Given the description of an element on the screen output the (x, y) to click on. 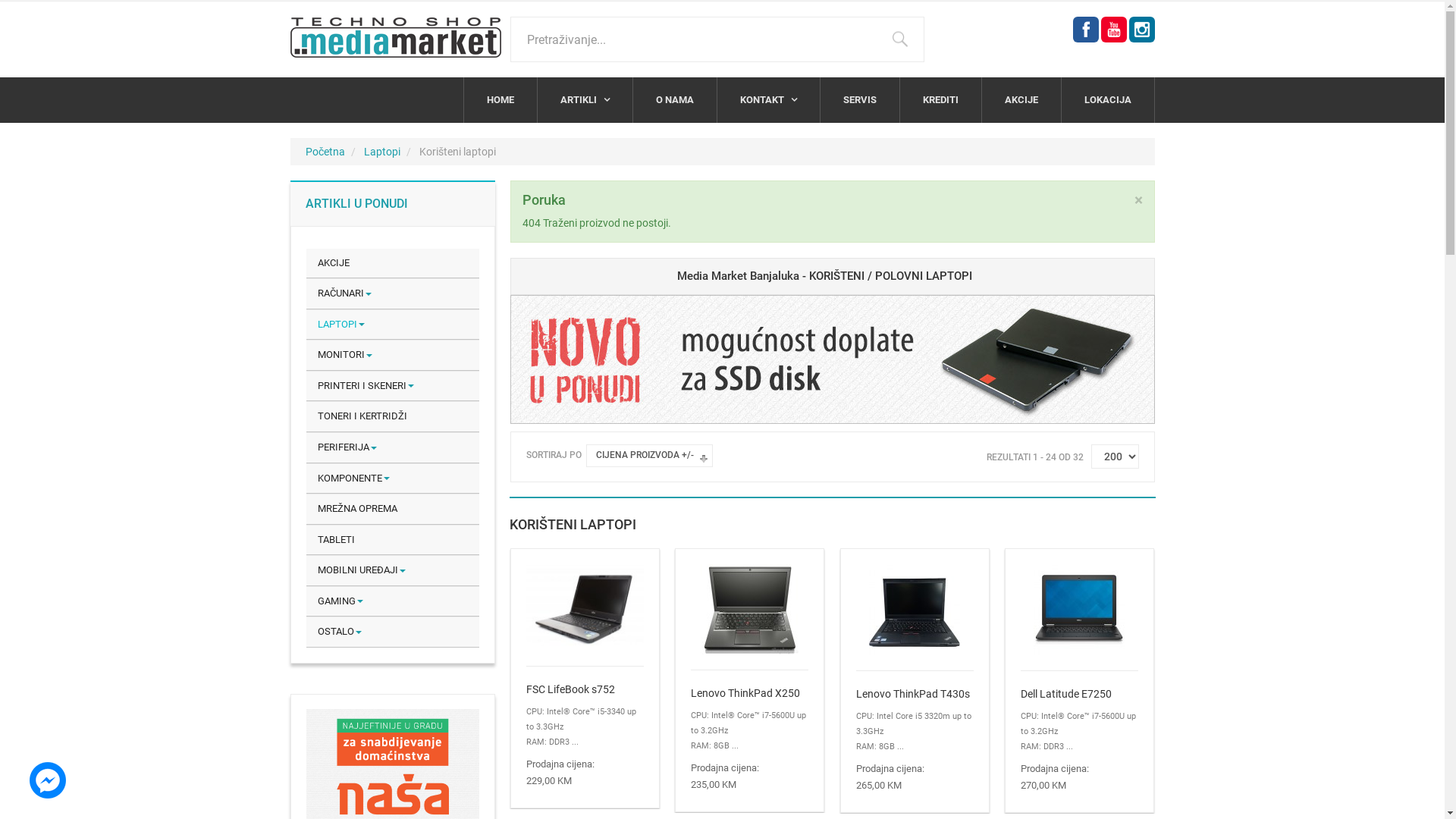
Facebook Element type: hover (1085, 29)
Dell Latitude E7250 Element type: hover (1078, 608)
Media Market Element type: hover (394, 37)
FSC LifeBook s752 Element type: text (585, 688)
O NAMA Element type: text (673, 99)
Dell Latitude E7250 Element type: text (1079, 693)
KONTAKT Element type: text (768, 99)
LAPTOPI Element type: text (392, 324)
Youtube Element type: hover (1113, 29)
PERIFERIJA Element type: text (392, 447)
Lenovo ThinkPad T430s Element type: hover (914, 608)
AKCIJE Element type: text (392, 263)
MONITORI Element type: text (392, 355)
LOKACIJA Element type: text (1107, 99)
PRINTERI I SKENERI Element type: text (392, 386)
ARTIKLI Element type: text (583, 99)
FSC LifeBook s752 Element type: hover (585, 606)
GAMING Element type: text (392, 601)
SERVIS Element type: text (859, 99)
Lenovo ThinkPad X250 Element type: hover (749, 608)
Instagram Element type: hover (1141, 29)
ARTIKLI U PONUDI Element type: text (355, 203)
TABLETI Element type: text (392, 540)
Lenovo ThinkPad T430s Element type: text (914, 693)
CIJENA PROIZVODA +/- Element type: text (644, 454)
Lenovo ThinkPad X250 Element type: text (749, 692)
AKCIJE Element type: text (1020, 99)
KOMPONENTE Element type: text (392, 478)
OSTALO Element type: text (392, 631)
KREDITI Element type: text (939, 99)
HOME Element type: text (500, 99)
Laptopi Element type: text (382, 151)
